Given the description of an element on the screen output the (x, y) to click on. 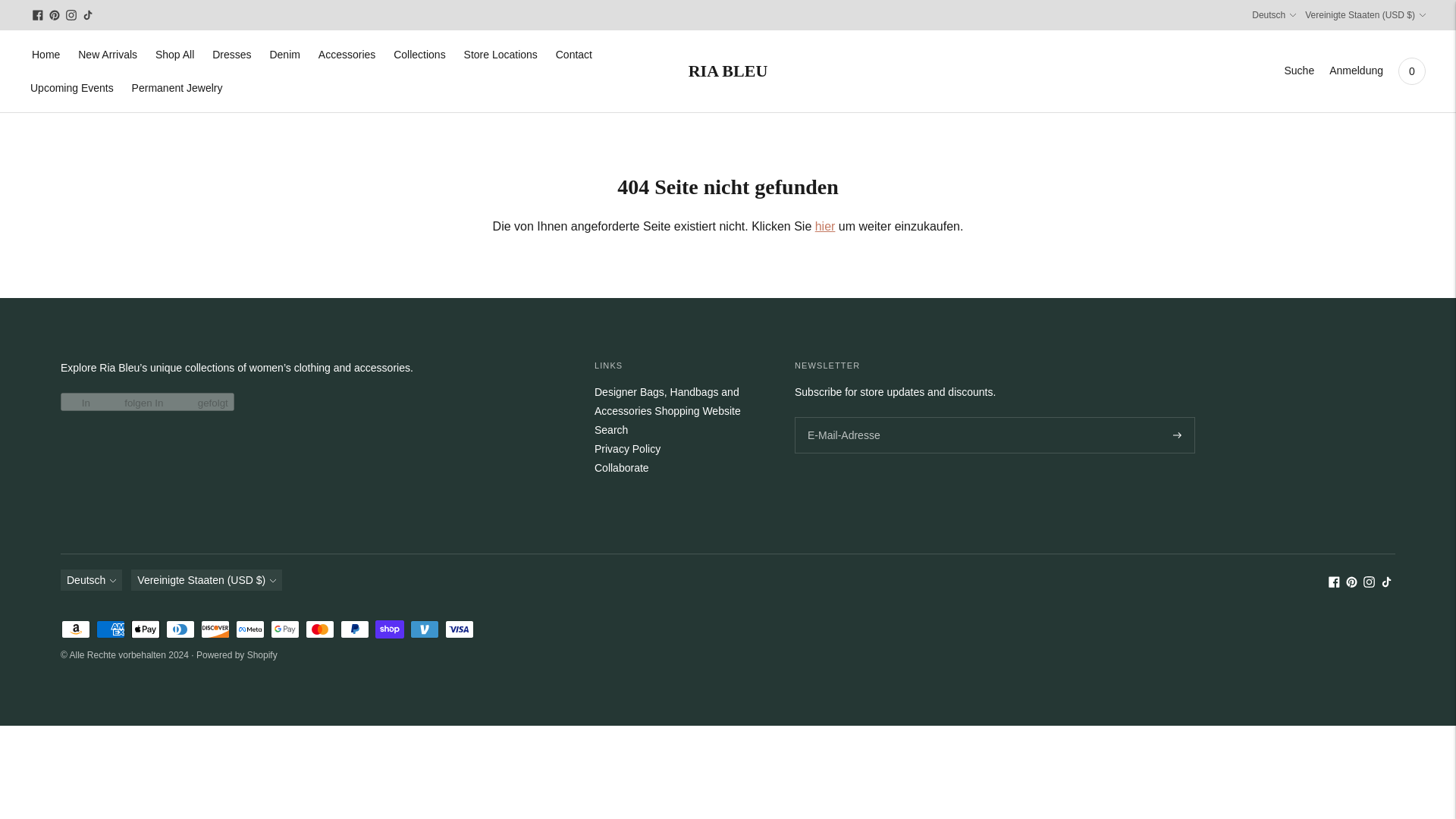
Dresses (231, 54)
Ria Bleu auf TikTok (1385, 583)
Ria Bleu auf Facebook (1333, 583)
Ria Bleu auf Instagram (71, 14)
Ria Bleu auf Facebook (37, 14)
Permanent Jewelry (177, 87)
Ria Bleu auf Instagram (1368, 583)
Collections (419, 54)
New Arrivals (107, 54)
Accessories (346, 54)
Ria Bleu auf TikTok (87, 14)
Contact (574, 54)
Ria Bleu auf Pinterest (1350, 583)
Store Locations (500, 54)
Ria Bleu auf Pinterest (54, 14)
